Given the description of an element on the screen output the (x, y) to click on. 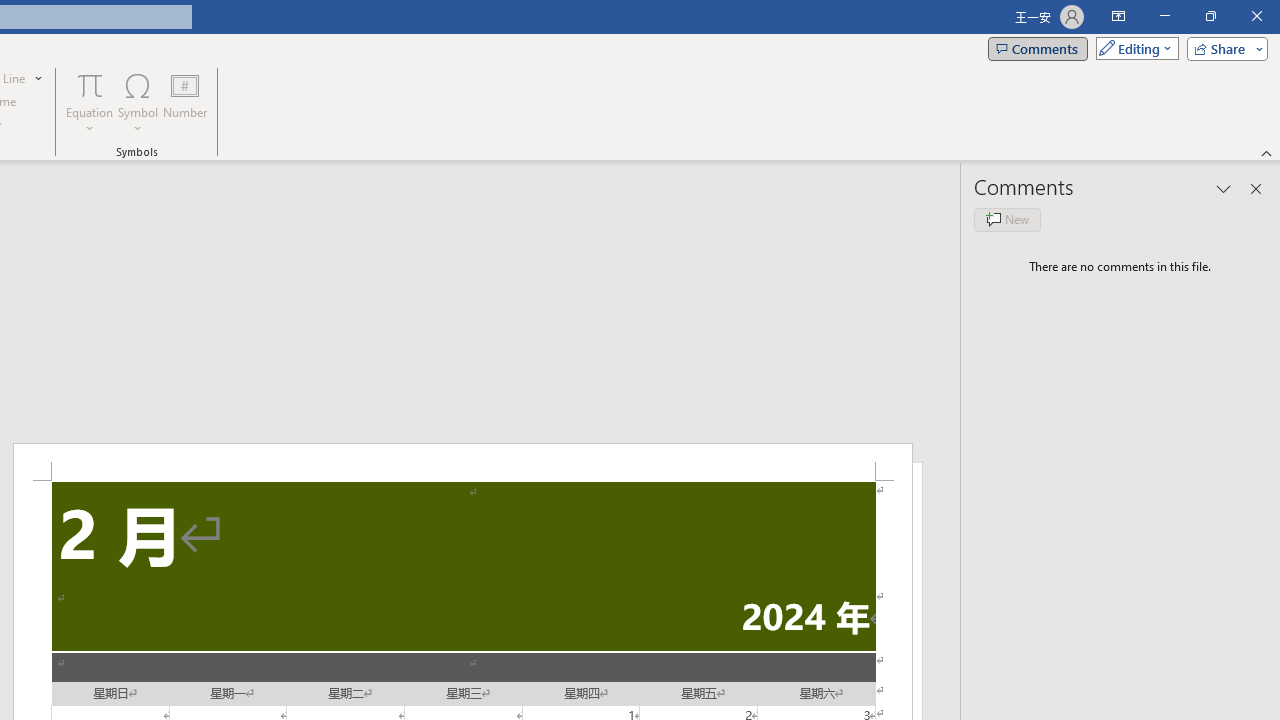
New comment (1007, 219)
Symbol (138, 102)
Header -Section 2- (462, 461)
Equation (90, 102)
Number... (185, 102)
Equation (90, 84)
